Given the description of an element on the screen output the (x, y) to click on. 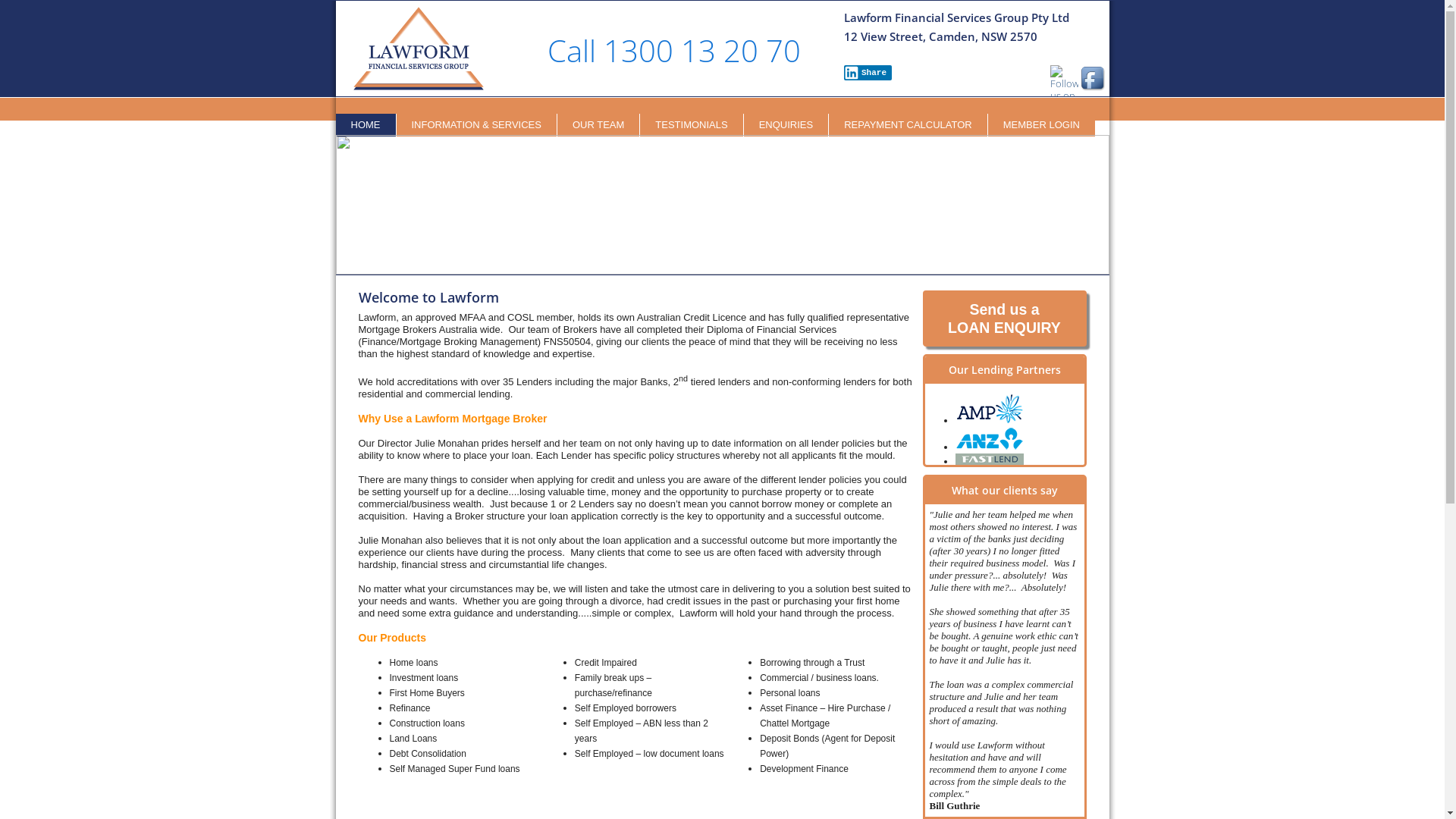
Share Element type: text (867, 72)
REPAYMENT CALCULATOR Element type: text (907, 124)
INFORMATION & SERVICES Element type: text (475, 124)
MEMBER LOGIN Element type: text (1041, 124)
Follow us on LinkedIn Element type: hover (1063, 89)
Follow us on Facebook Element type: hover (1093, 79)
TESTIMONIALS Element type: text (691, 124)
What our clients say Element type: text (1003, 490)
HOME Element type: text (365, 124)
OUR TEAM Element type: text (598, 124)
Send us a
LOAN ENQUIRY Element type: text (1003, 318)
ENQUIRIES Element type: text (785, 124)
